Given the description of an element on the screen output the (x, y) to click on. 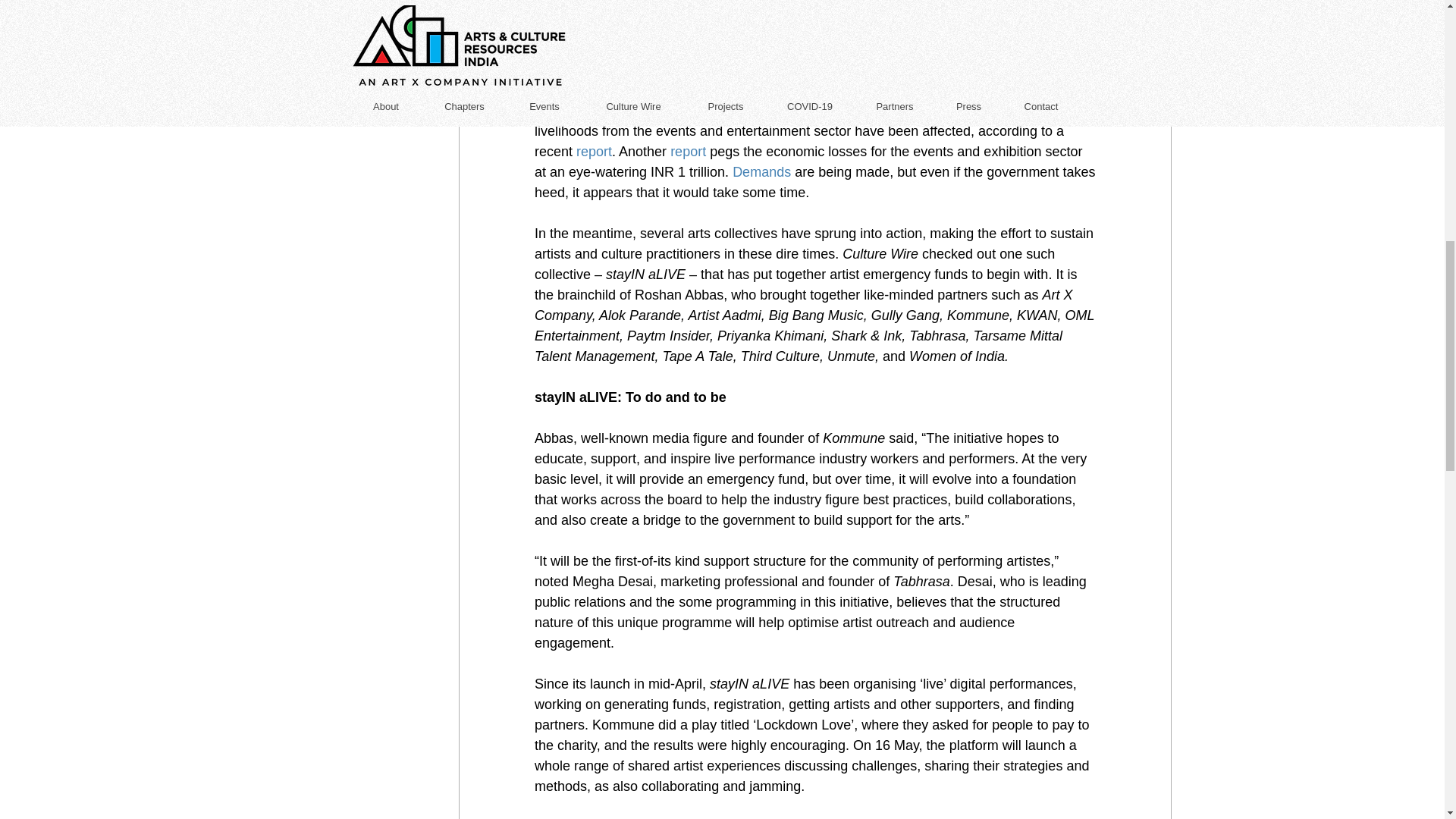
report (593, 151)
set back (741, 110)
Demands (761, 171)
Photo by Escape Artiste on Unsplash (814, 25)
report (687, 151)
